Given the description of an element on the screen output the (x, y) to click on. 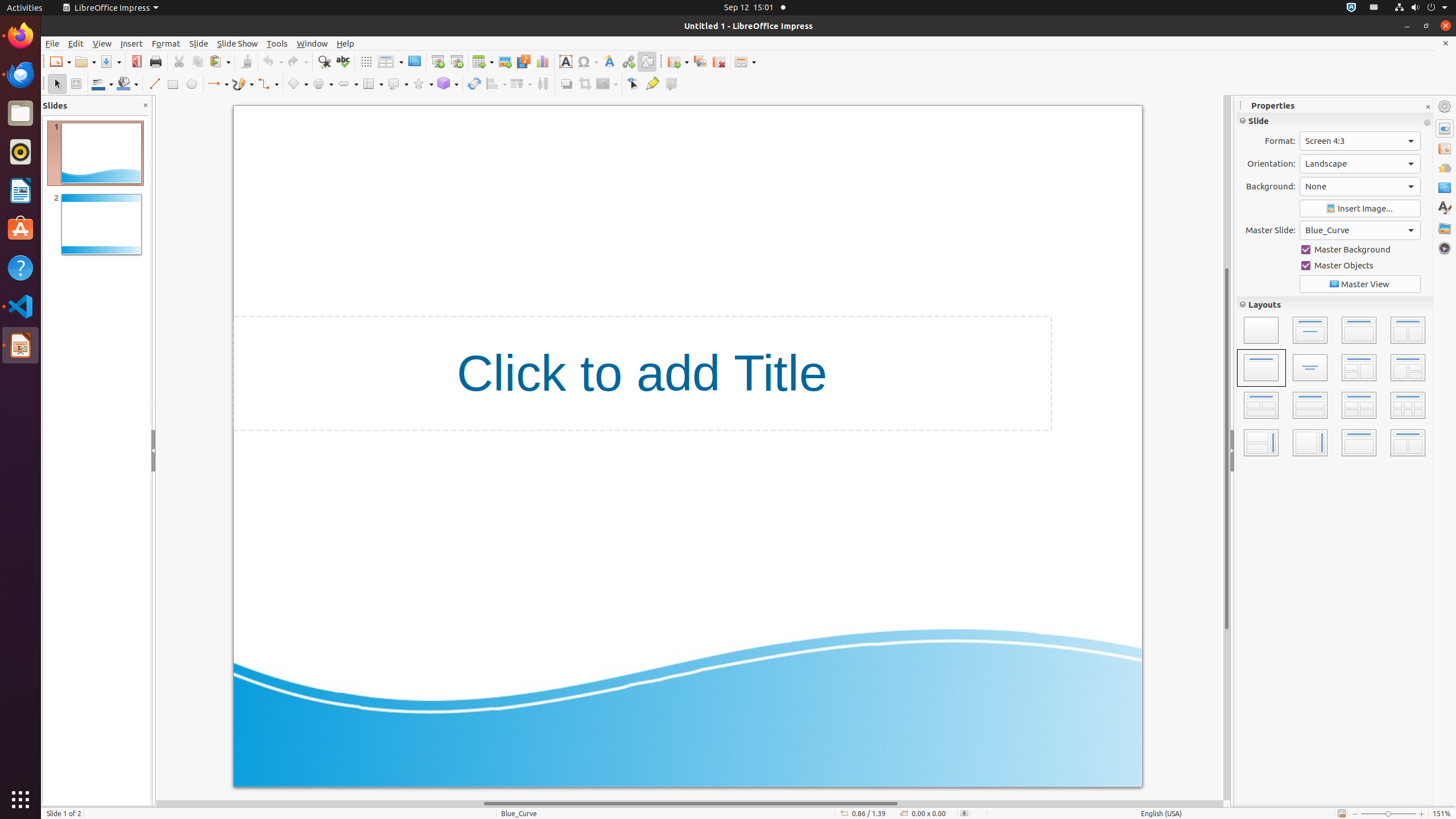
Grid Element type: toggle-button (365, 61)
Horizontal scroll bar Element type: scroll-bar (689, 803)
Draw Functions Element type: toggle-button (646, 61)
Vertical scroll bar Element type: scroll-bar (1226, 447)
Text Box Element type: push-button (565, 61)
